Given the description of an element on the screen output the (x, y) to click on. 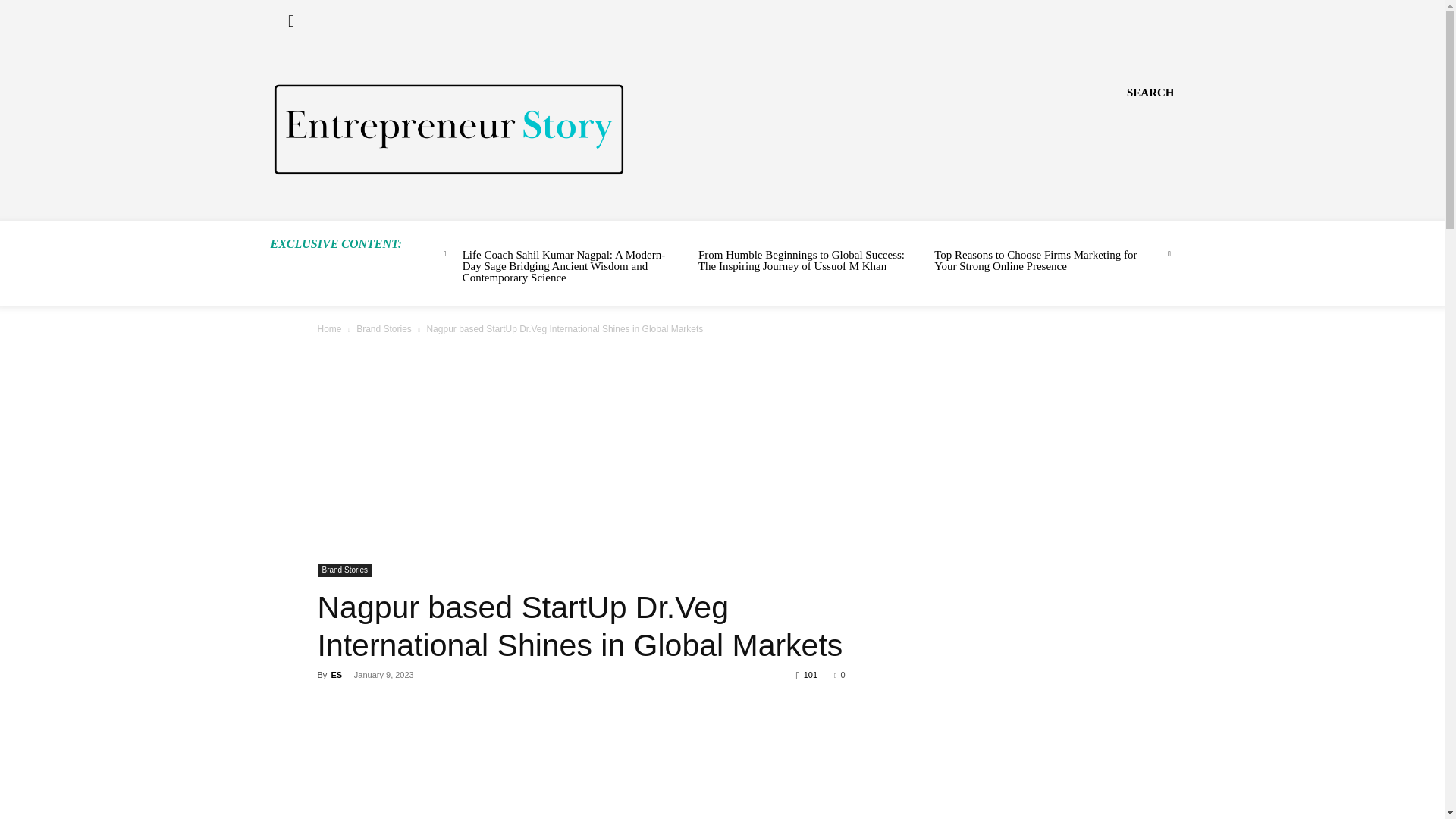
Brand Stories (384, 328)
0 (839, 674)
Home (328, 328)
View all posts in Brand Stories (384, 328)
ES (336, 674)
